Given the description of an element on the screen output the (x, y) to click on. 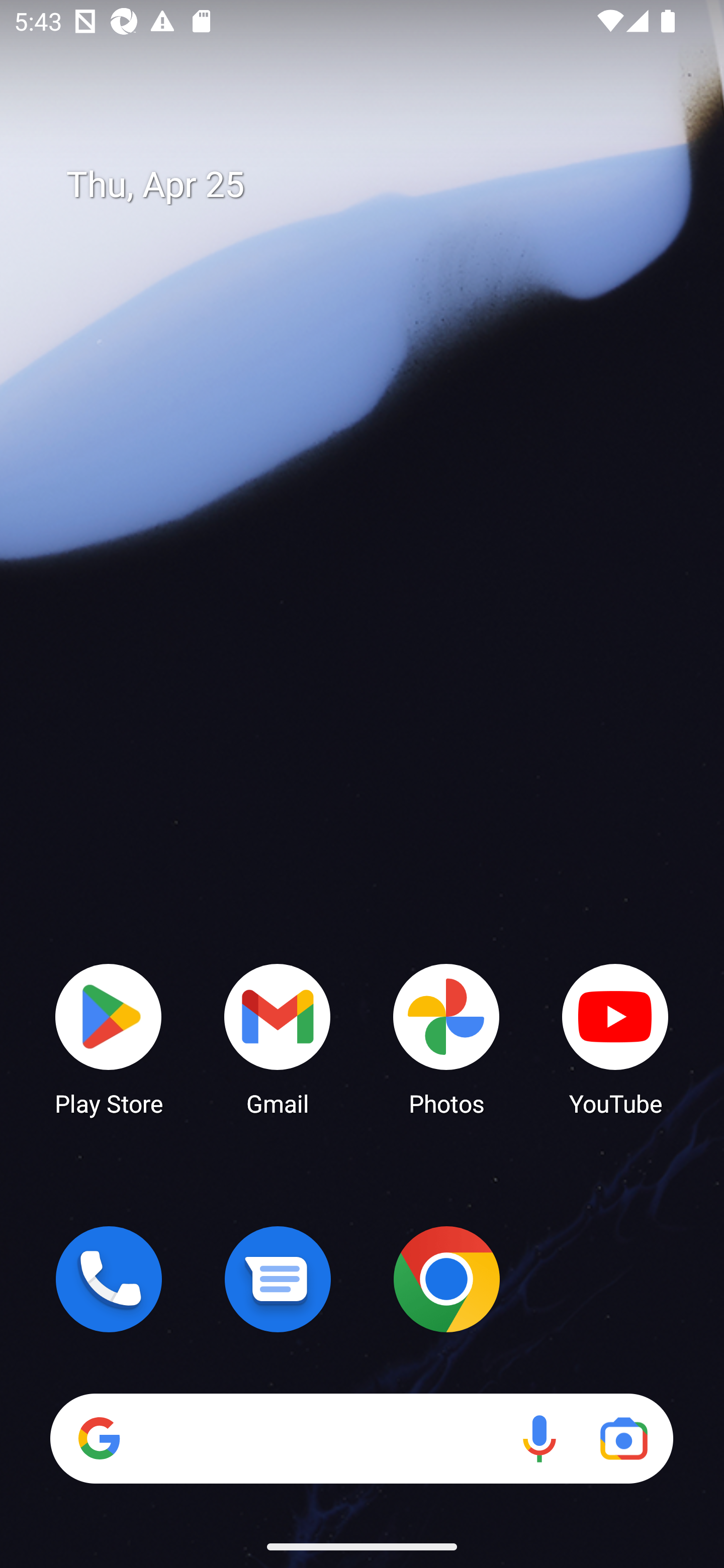
Thu, Apr 25 (375, 184)
Play Store (108, 1038)
Gmail (277, 1038)
Photos (445, 1038)
YouTube (615, 1038)
Phone (108, 1279)
Messages (277, 1279)
Chrome (446, 1279)
Search Voice search Google Lens (361, 1438)
Voice search (539, 1438)
Google Lens (623, 1438)
